Given the description of an element on the screen output the (x, y) to click on. 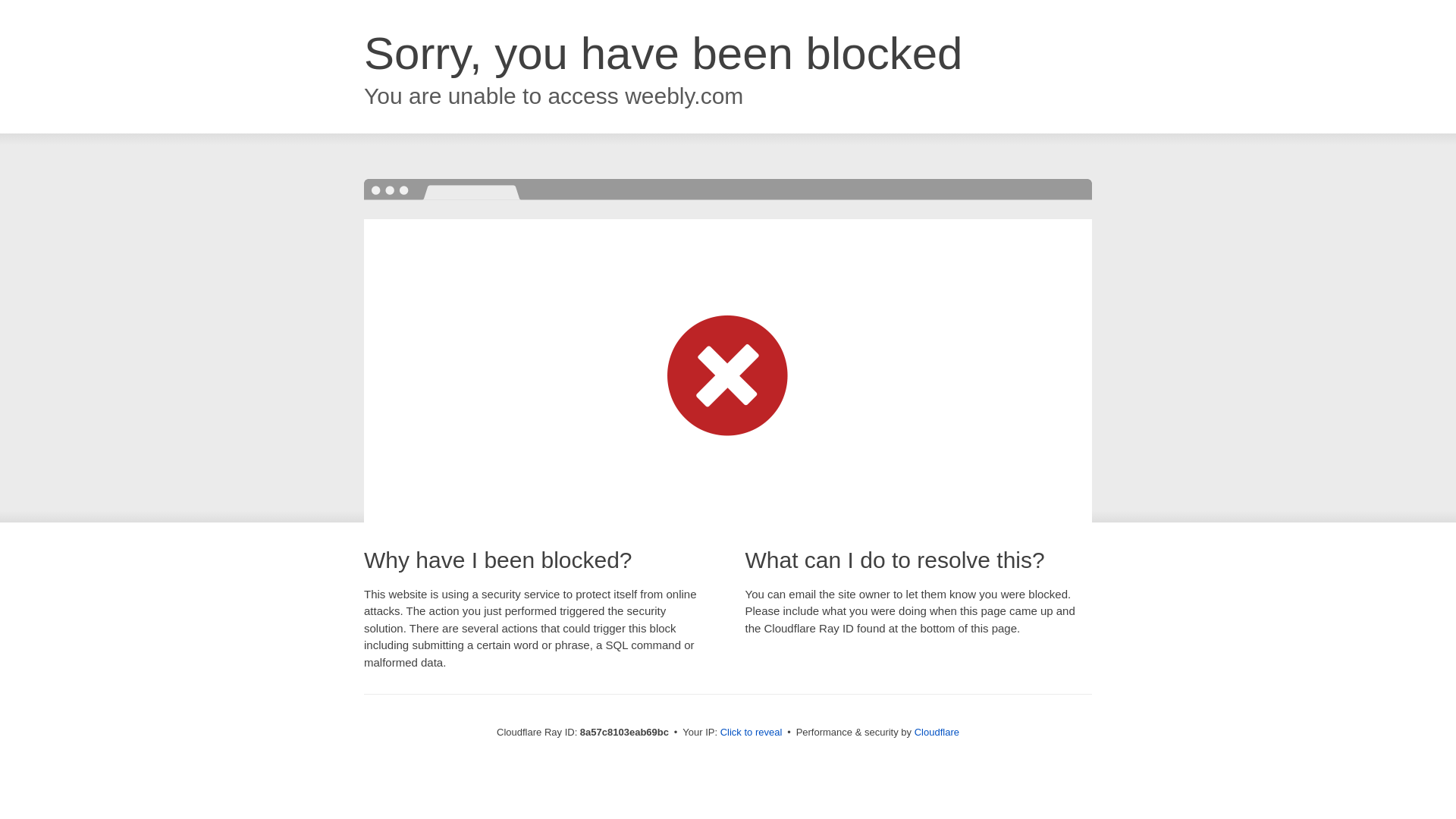
Click to reveal (751, 732)
Cloudflare (936, 731)
